Given the description of an element on the screen output the (x, y) to click on. 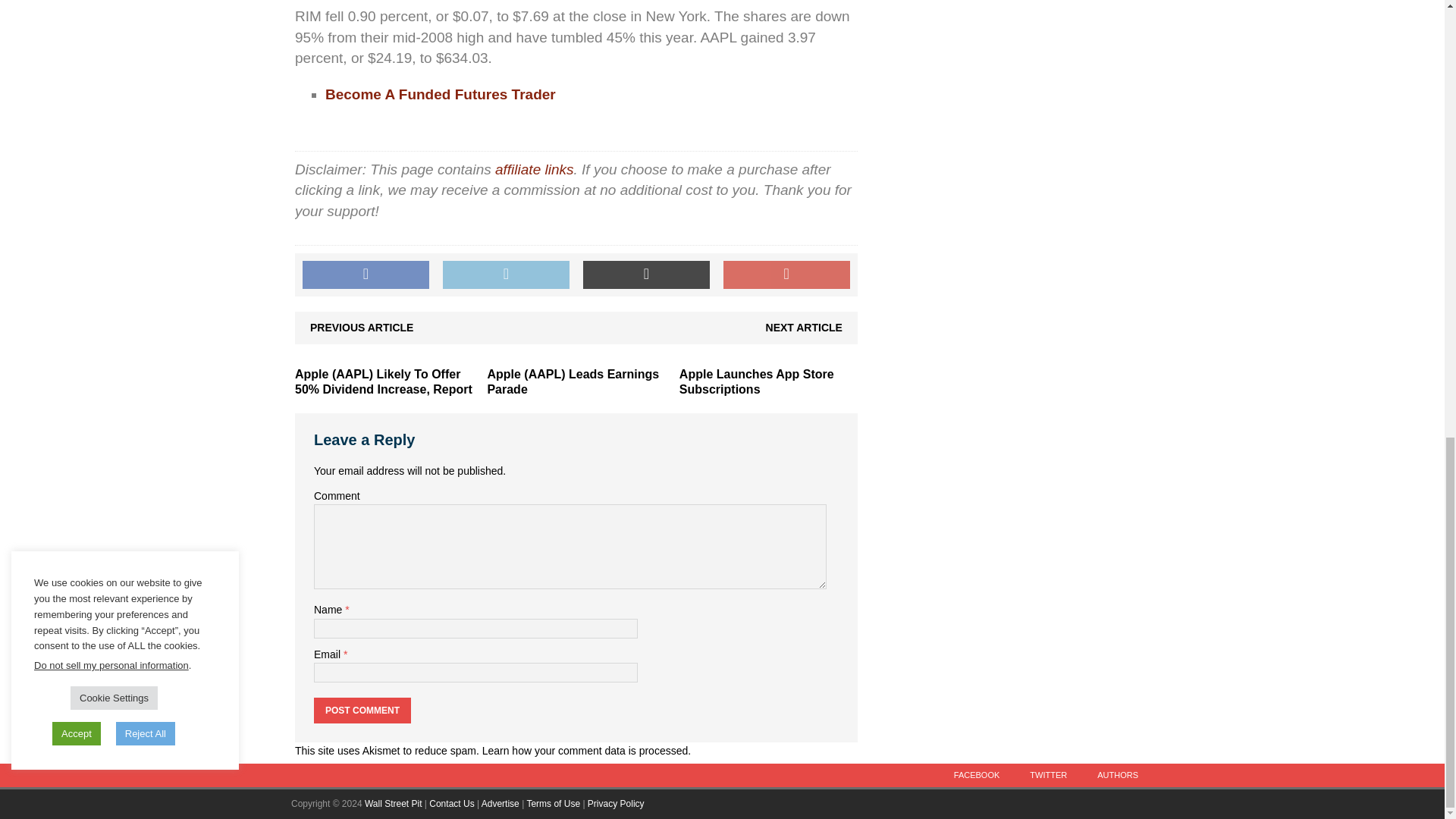
Share on Reddit (646, 275)
Share on Facebook (365, 275)
Apple Launches App Store Subscriptions (756, 381)
Tweet This Post (505, 275)
Post Comment (362, 710)
